Given the description of an element on the screen output the (x, y) to click on. 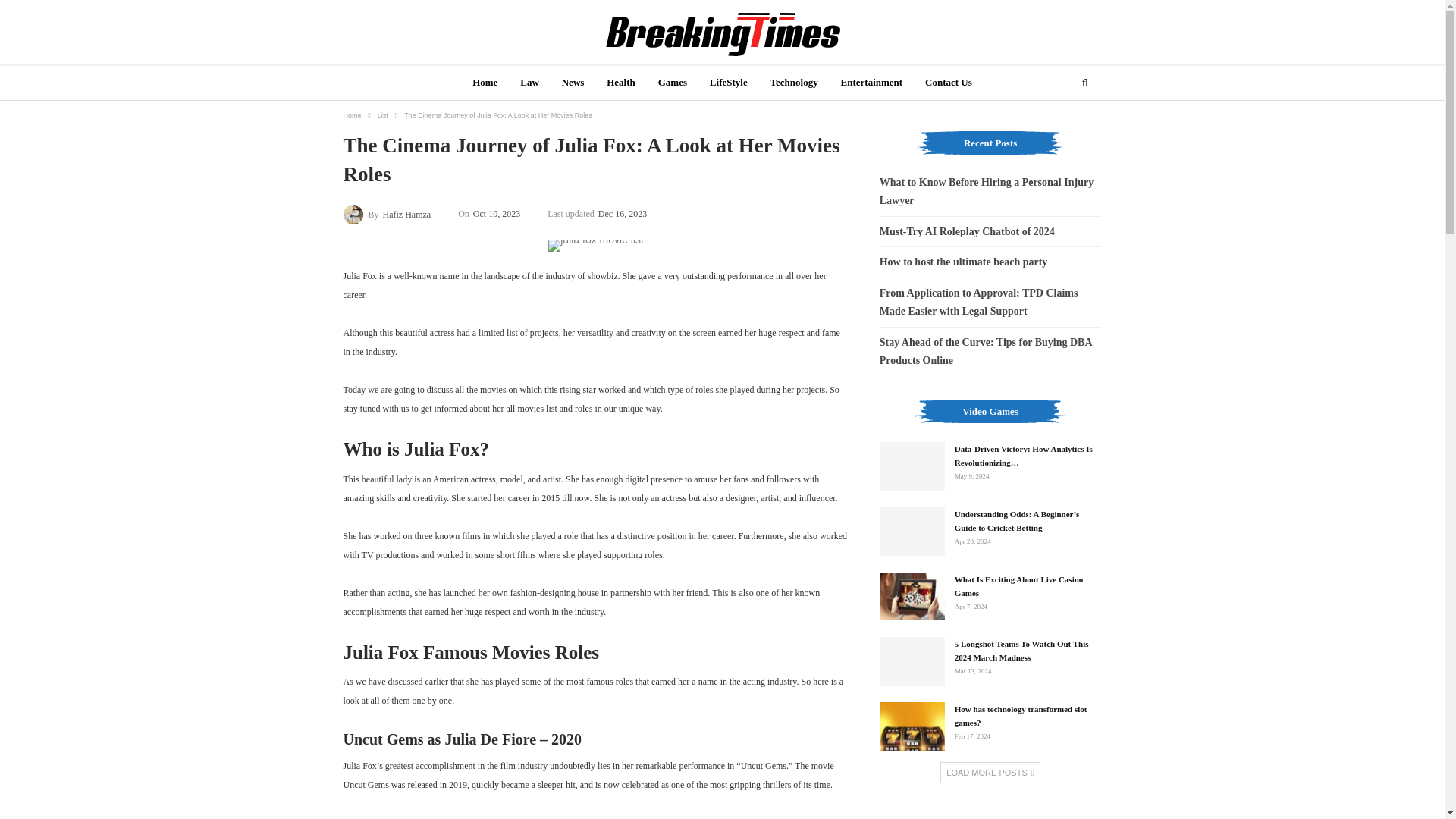
Health (620, 83)
Games (672, 83)
5 Longshot Teams To Watch Out This 2024 March Madness (911, 661)
Must-Try AI Roleplay Chatbot of 2024 (966, 231)
Video Games (990, 418)
Entertainment (871, 83)
Contact Us (948, 83)
How has technology transformed slot games? (911, 726)
Technology (794, 83)
Browse Author Articles (386, 213)
